Given the description of an element on the screen output the (x, y) to click on. 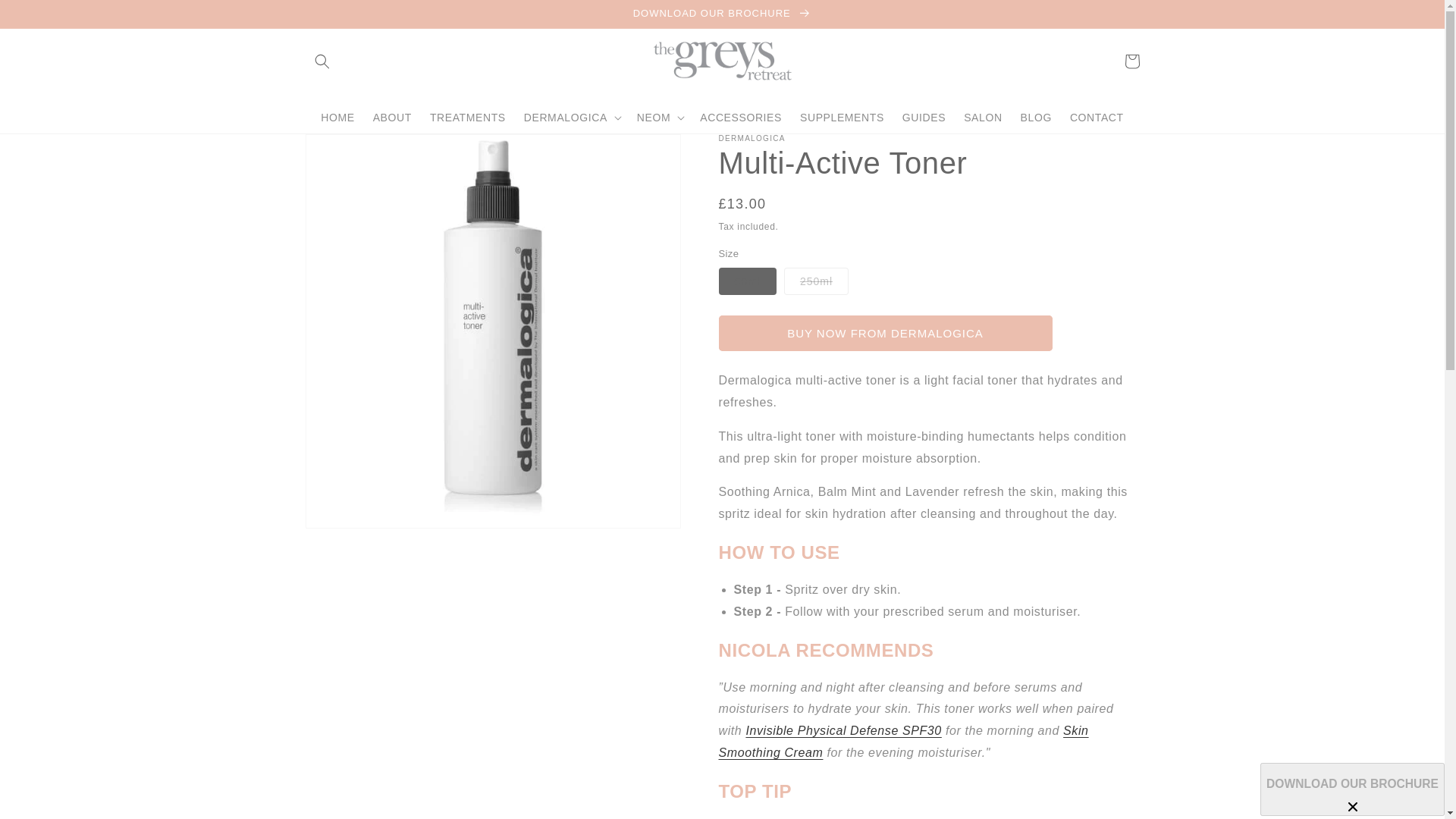
Invisible Physical defense spf30 (842, 730)
Dermalogica Skin Smoothing cream (904, 741)
HOME (336, 117)
ABOUT (392, 117)
Skip to content (45, 17)
TREATMENTS (467, 117)
